Given the description of an element on the screen output the (x, y) to click on. 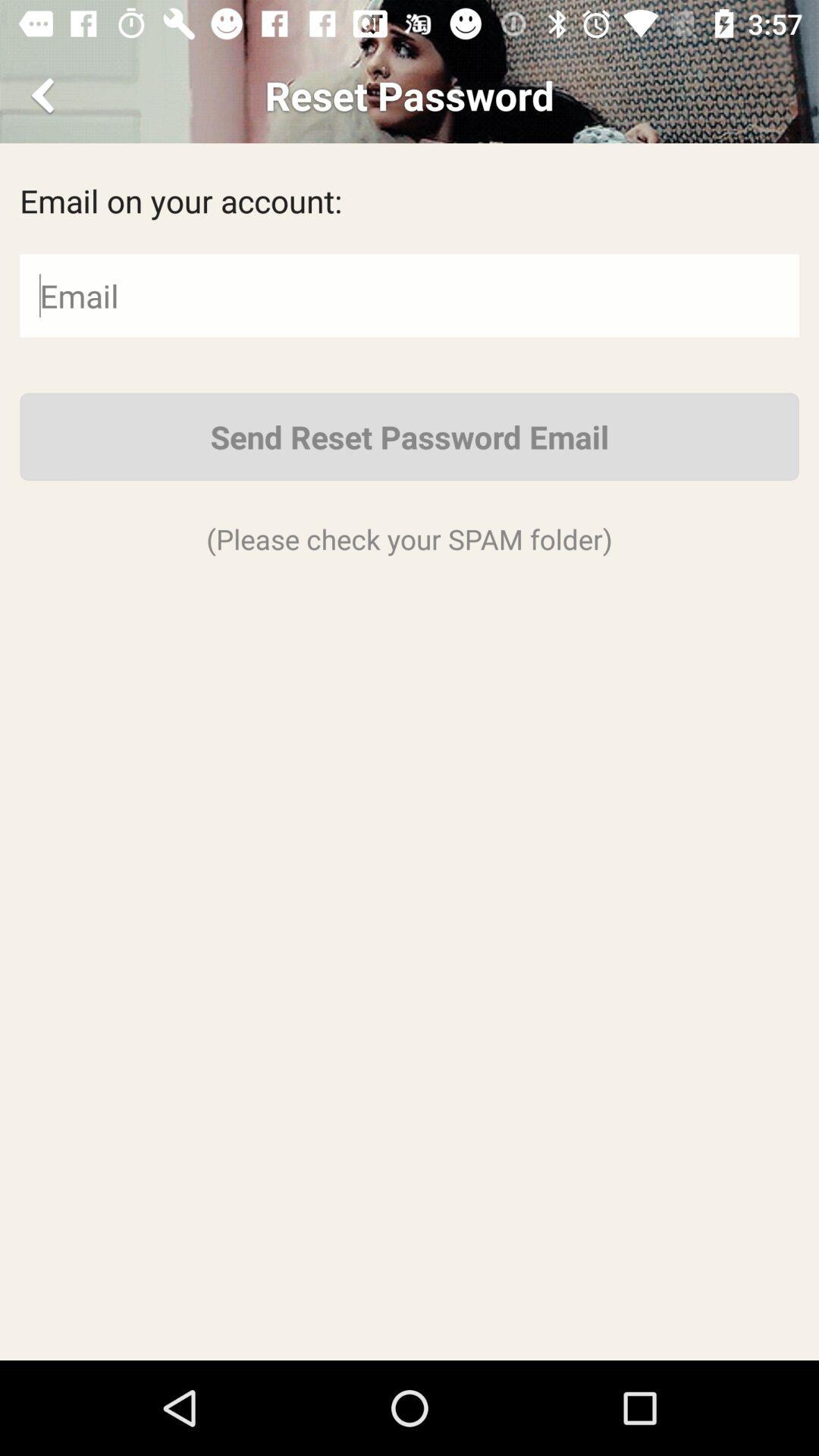
back option (45, 95)
